Given the description of an element on the screen output the (x, y) to click on. 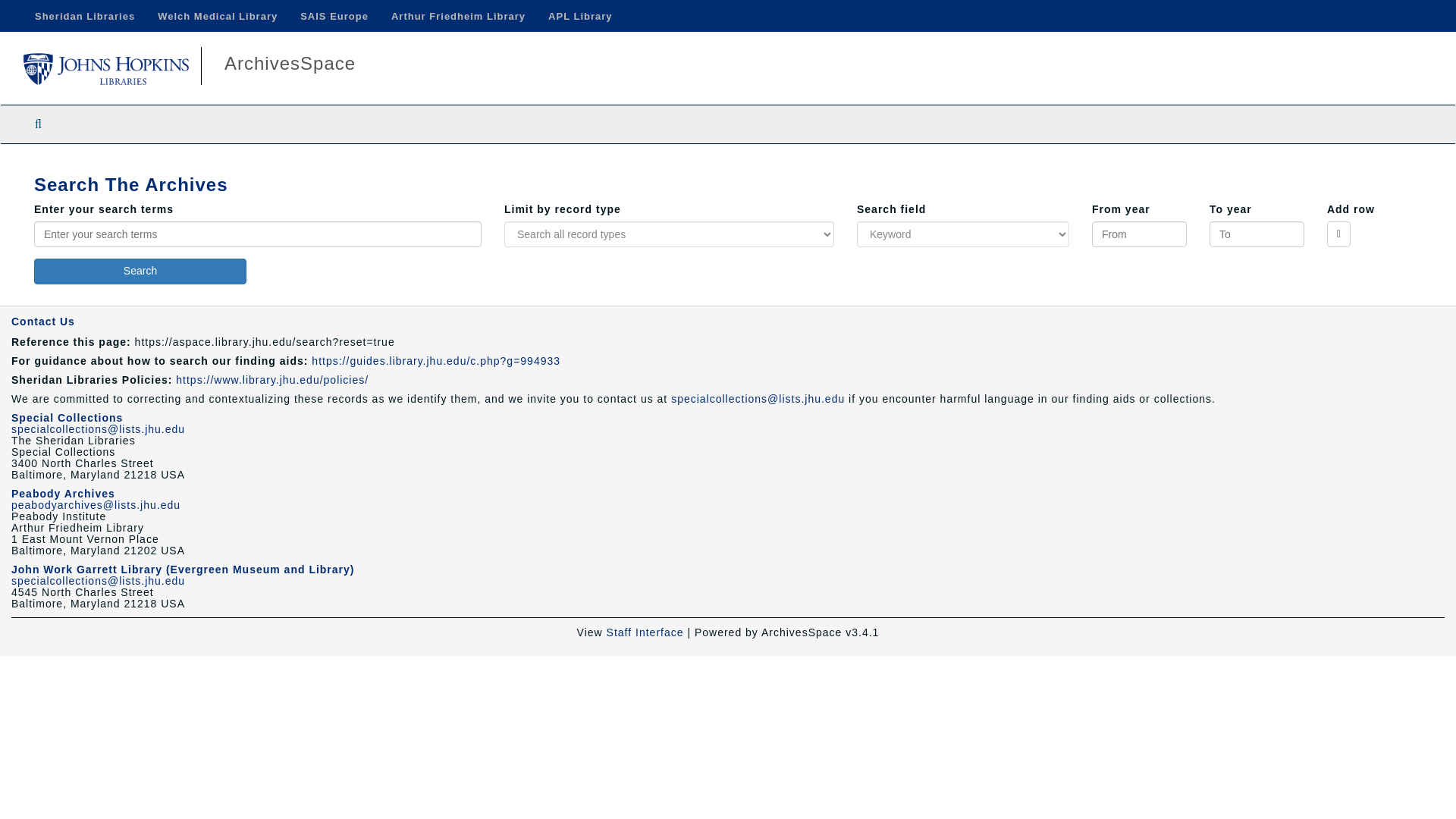
Peabody Archives (63, 493)
SAIS Europe (334, 15)
Add a search row (1338, 234)
Arthur Friedheim Library (458, 15)
Sheridan Libraries (85, 15)
Search (139, 271)
Search (139, 271)
APL Library (580, 15)
Staff Interface (645, 632)
Special Collections (66, 417)
